Given the description of an element on the screen output the (x, y) to click on. 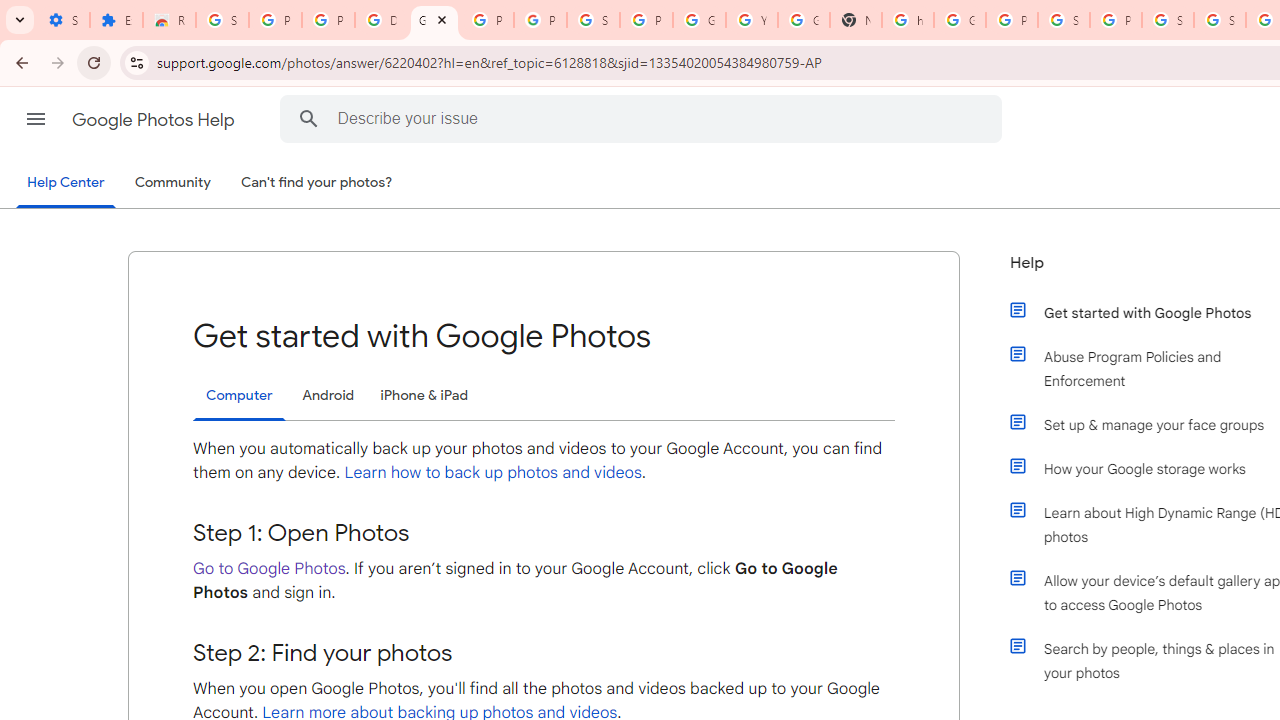
Learn how to back up photos and videos (493, 472)
Google Account (699, 20)
Describe your issue (644, 118)
Community (171, 183)
New Tab (855, 20)
Delete photos & videos - Computer - Google Photos Help (381, 20)
Computer (239, 396)
https://scholar.google.com/ (907, 20)
